Given the description of an element on the screen output the (x, y) to click on. 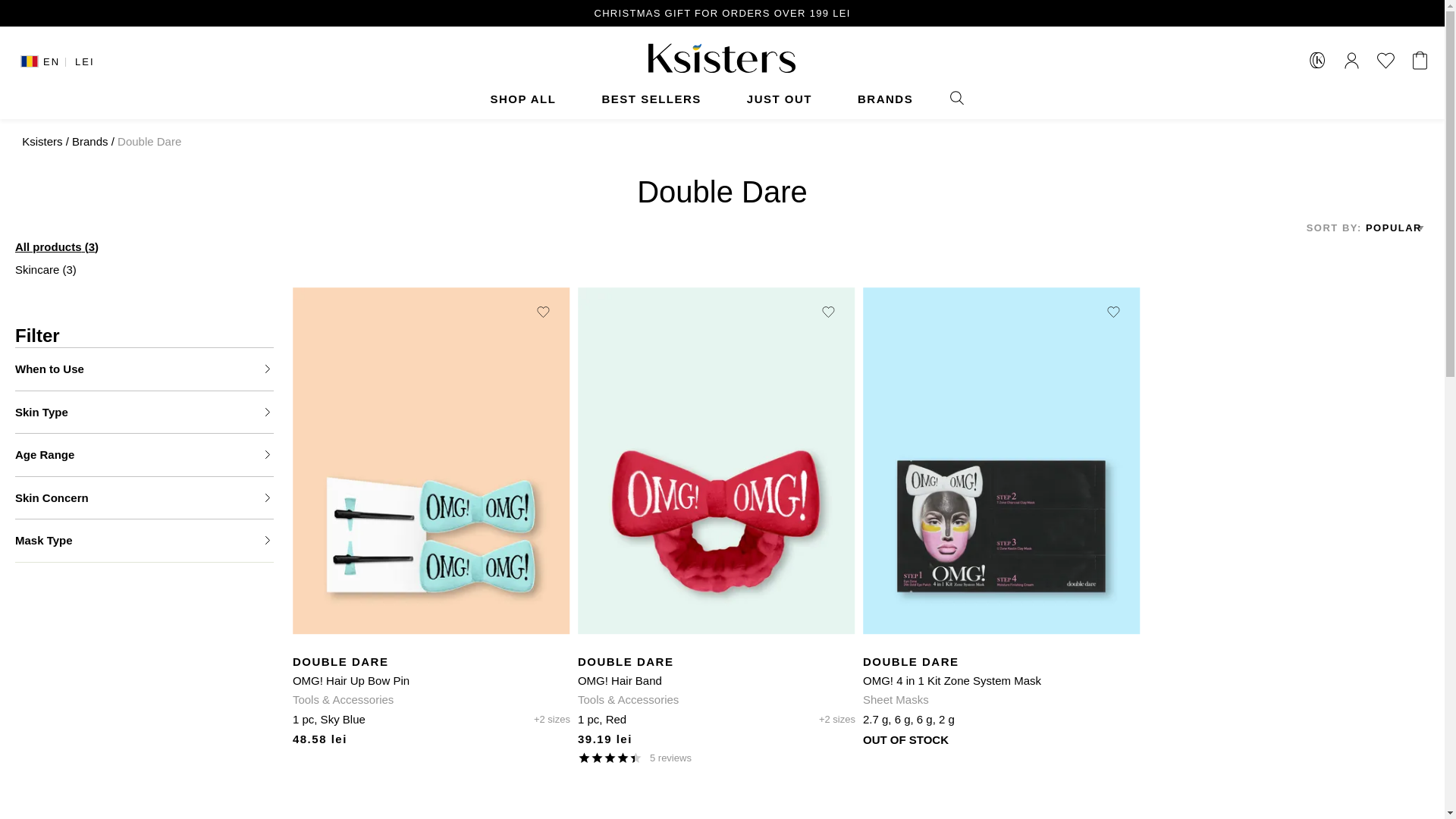
SHOP ALL (522, 99)
